Given the description of an element on the screen output the (x, y) to click on. 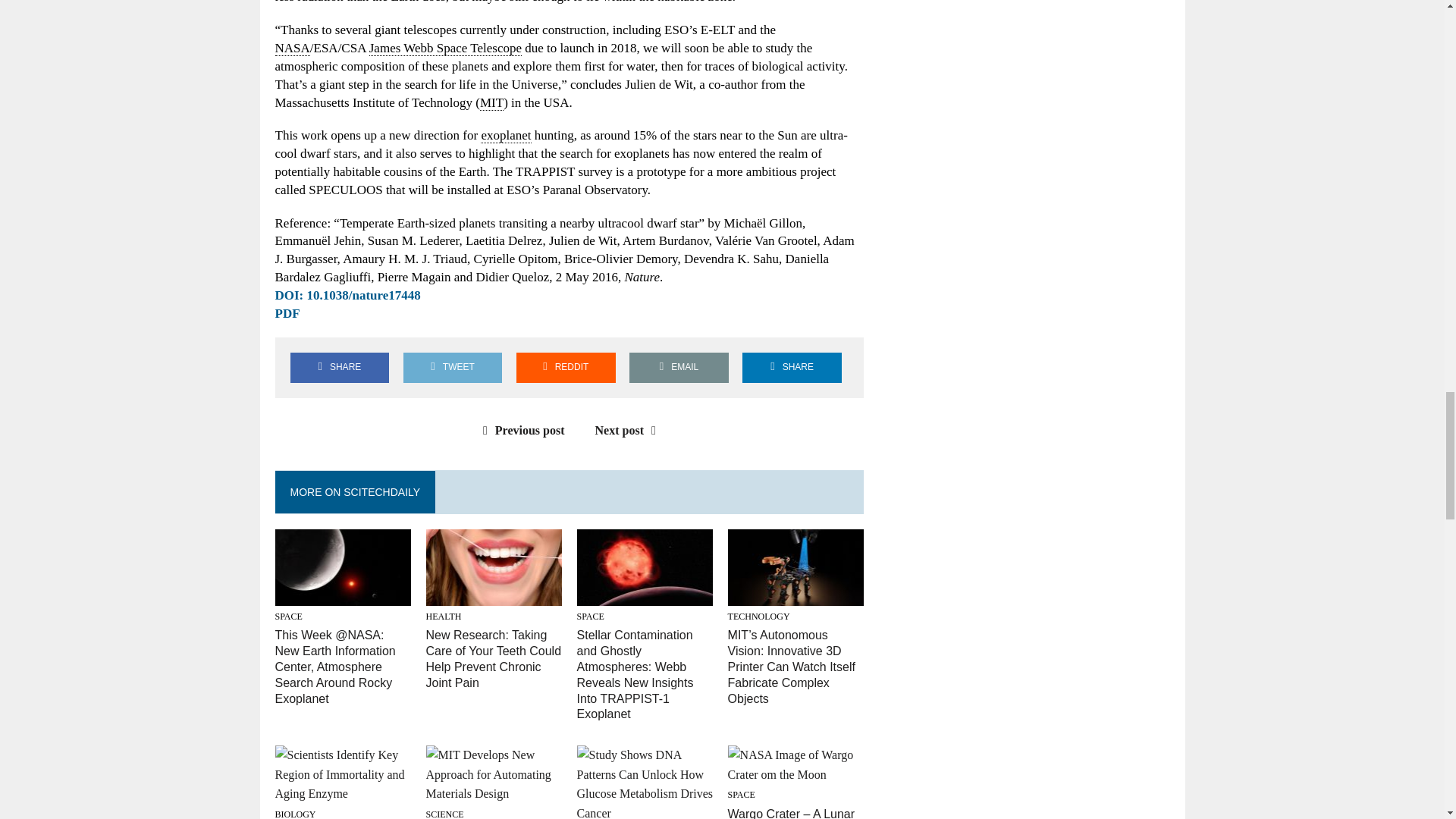
Share on Facebook (338, 367)
